Given the description of an element on the screen output the (x, y) to click on. 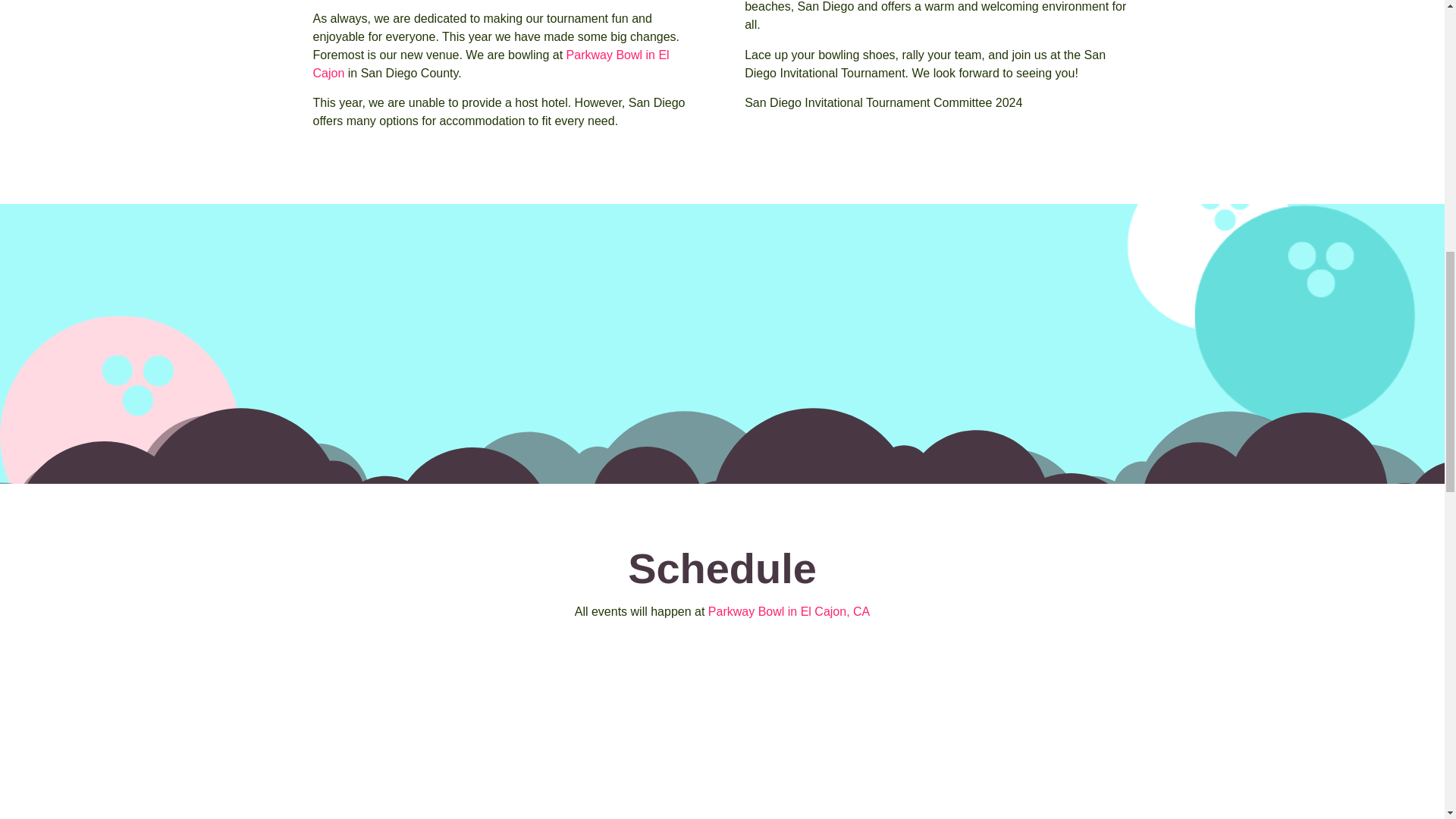
Parkway Bowl in El Cajon (490, 63)
Parkway Bowl in El Cajon, CA (788, 611)
